Given the description of an element on the screen output the (x, y) to click on. 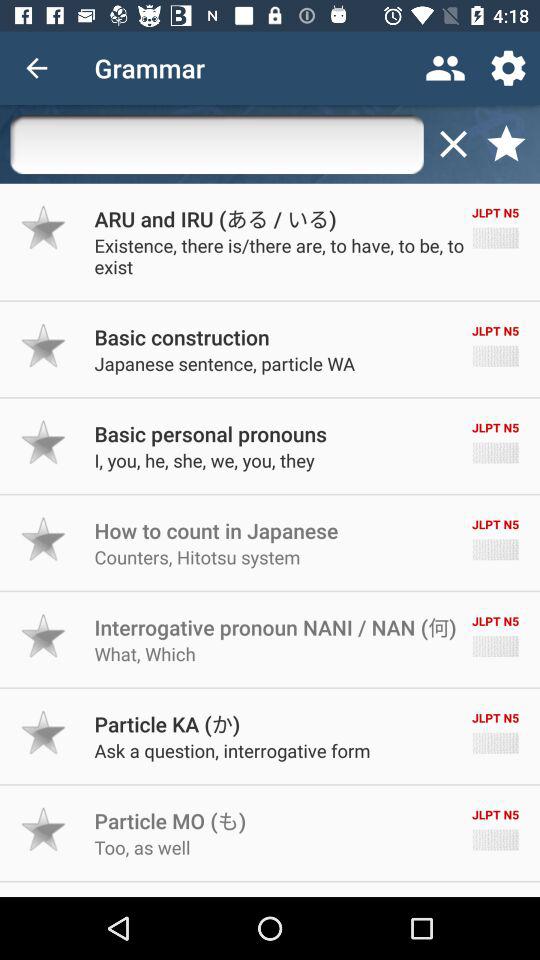
turn on the icon below ask a question icon (170, 820)
